Given the description of an element on the screen output the (x, y) to click on. 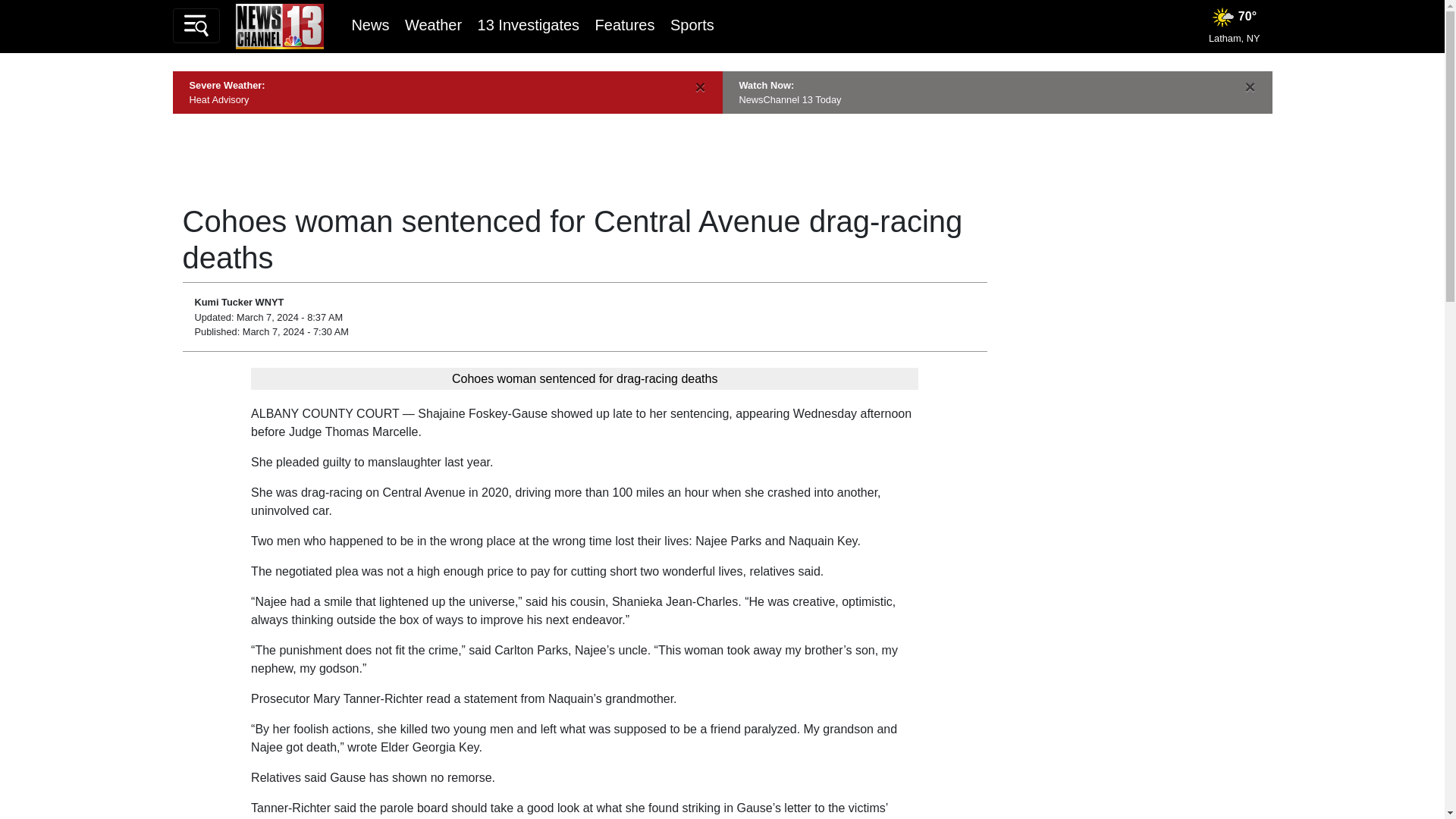
Weather (432, 24)
Sports (691, 24)
13 Investigates (528, 24)
News (369, 24)
Features (625, 24)
